Given the description of an element on the screen output the (x, y) to click on. 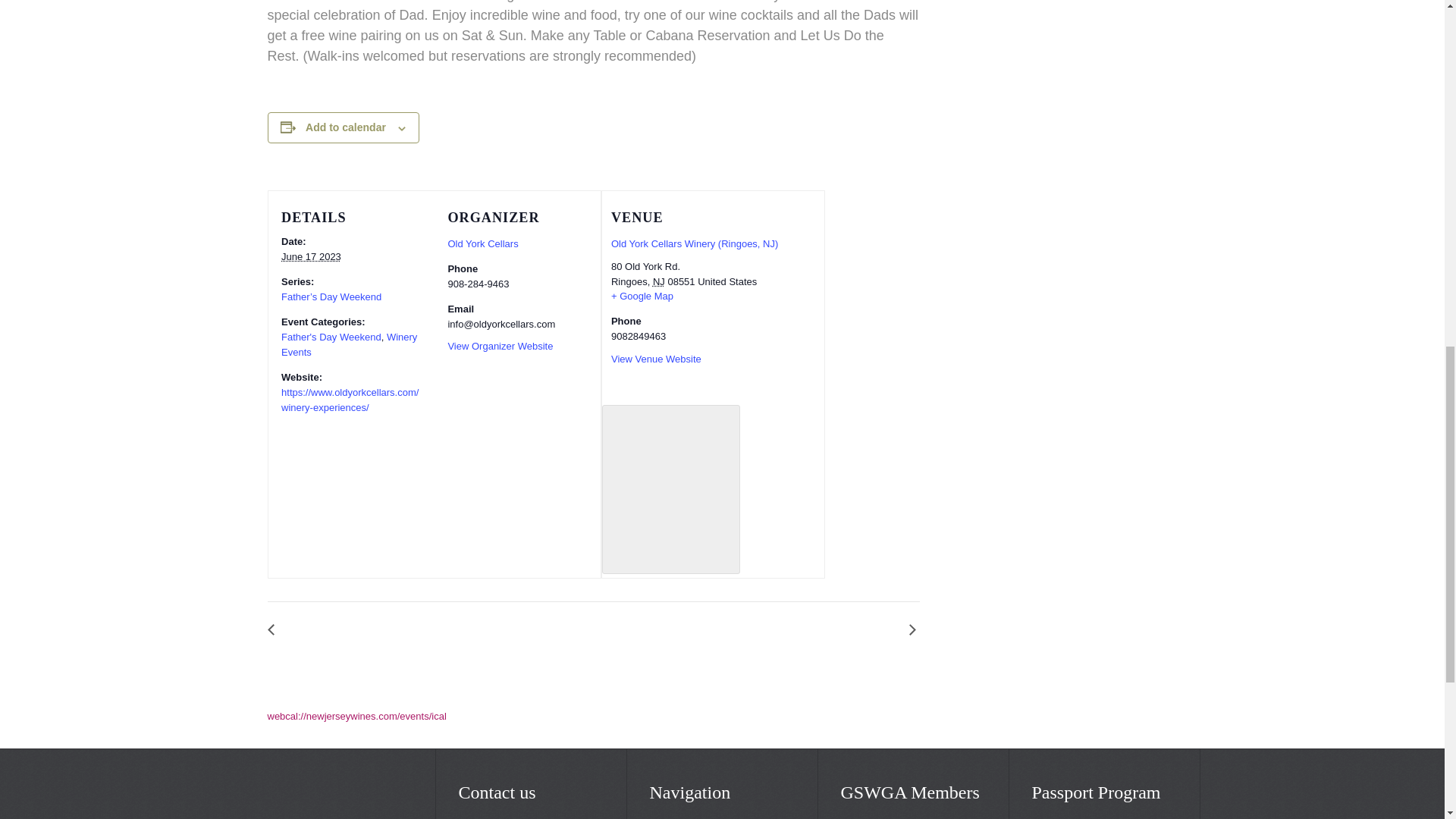
2023-06-17 (310, 256)
Click to view a Google Map (641, 296)
New Jersey (658, 281)
Old York Cellars (482, 243)
